Given the description of an element on the screen output the (x, y) to click on. 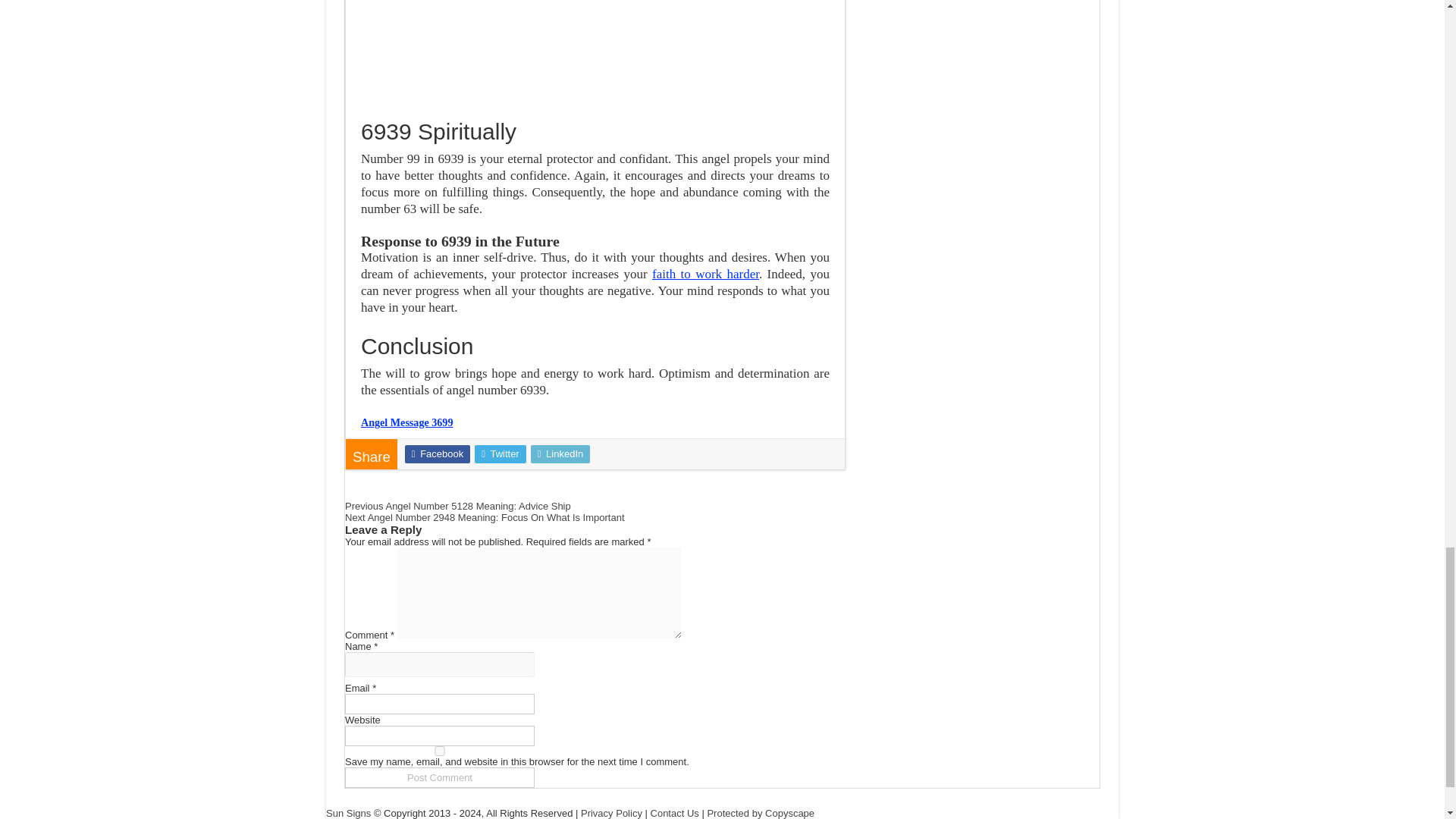
faith to work harder (705, 273)
LinkedIn (561, 454)
Facebook (437, 454)
Previous Angel Number 5128 Meaning: Advice Ship (457, 505)
Post Comment (439, 777)
yes (439, 750)
Angel Message 3699 (406, 422)
Next Angel Number 2948 Meaning: Focus On What Is Important (484, 517)
Twitter (499, 454)
Angel Message 3699 (406, 422)
